Given the description of an element on the screen output the (x, y) to click on. 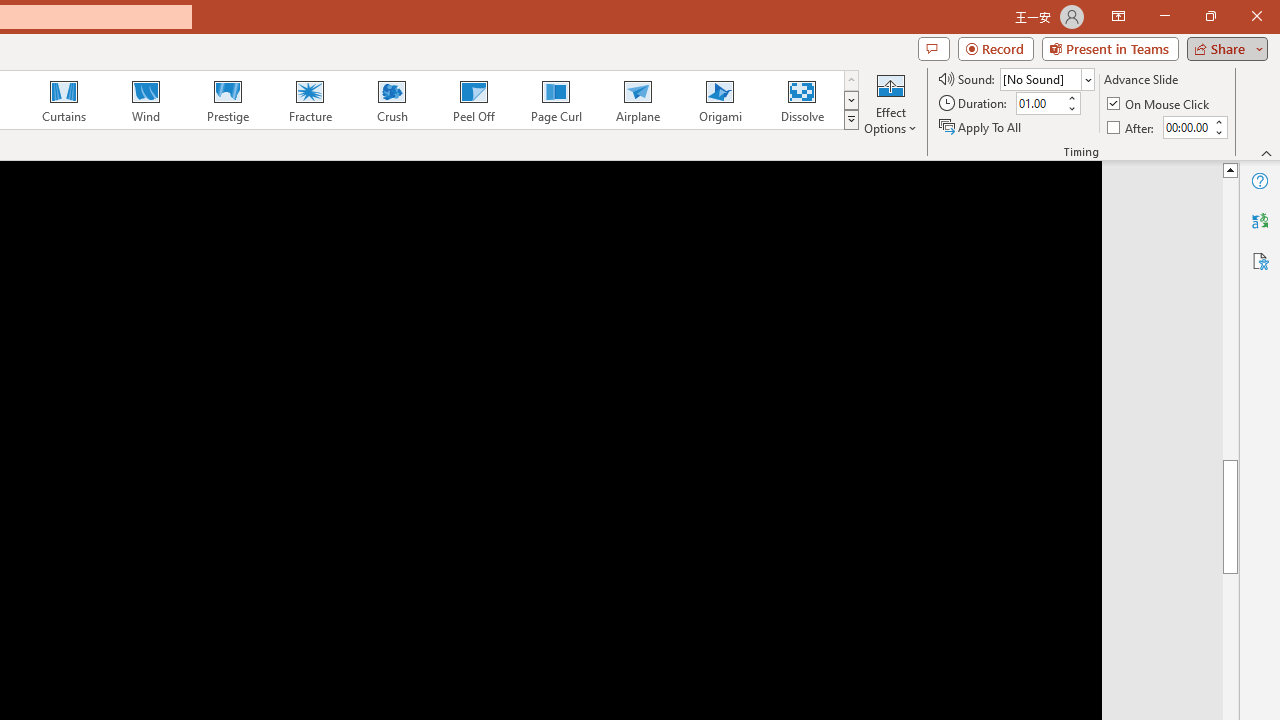
Effect Options (890, 102)
Airplane (637, 100)
After (1186, 127)
Peel Off (473, 100)
Crush (391, 100)
Fracture (309, 100)
Wind (145, 100)
